Given the description of an element on the screen output the (x, y) to click on. 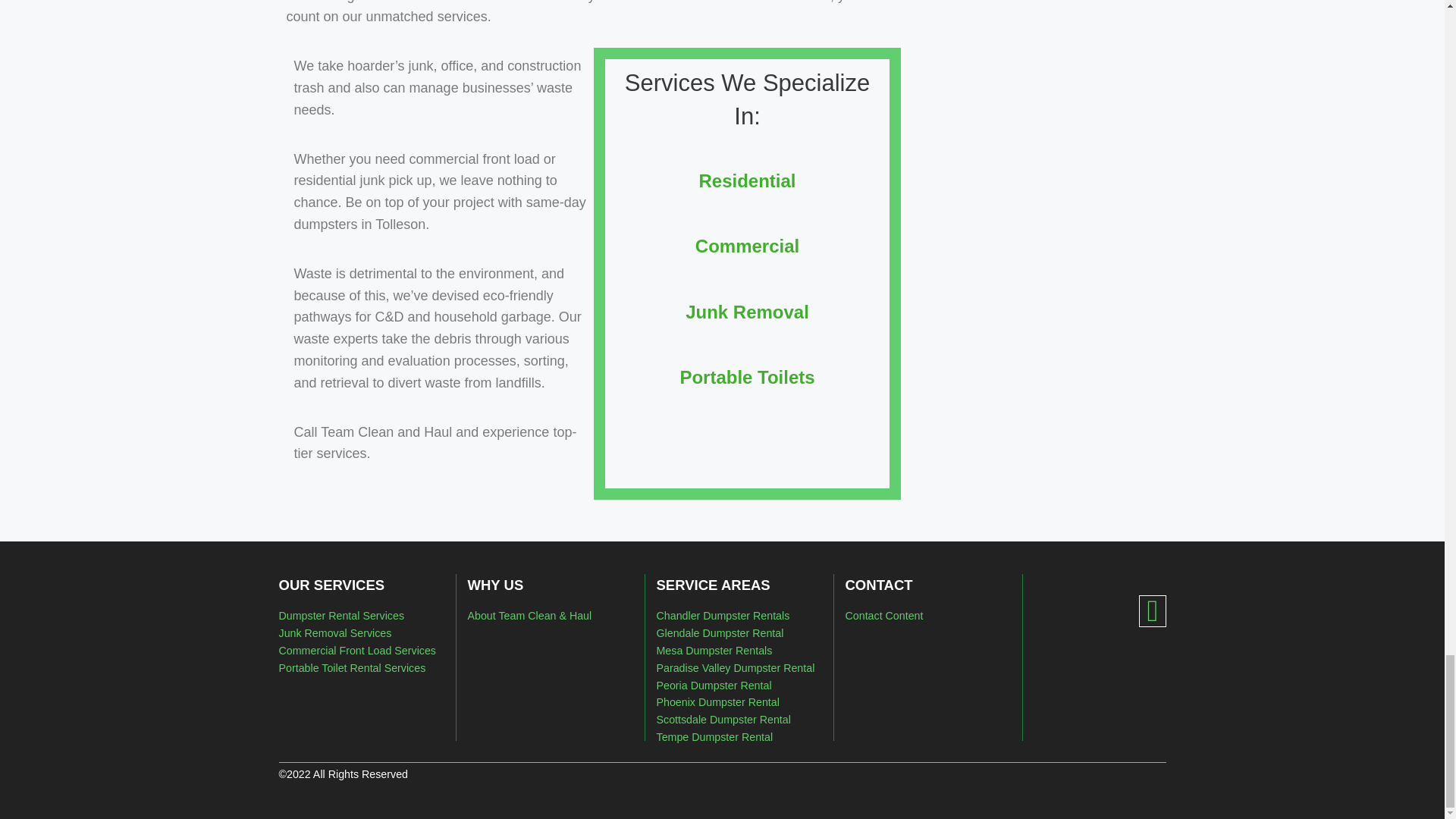
OUR SERVICES (332, 584)
Junk Removal Services (335, 633)
SERVICE AREAS (713, 584)
Residential (746, 180)
Glendale Dumpster Rental (720, 633)
Junk Removal (747, 311)
Chandler Dumpster Rentals (723, 615)
Commercial Front Load Services (357, 650)
Dumpster Rental Services (341, 615)
Commercial (747, 245)
